Given the description of an element on the screen output the (x, y) to click on. 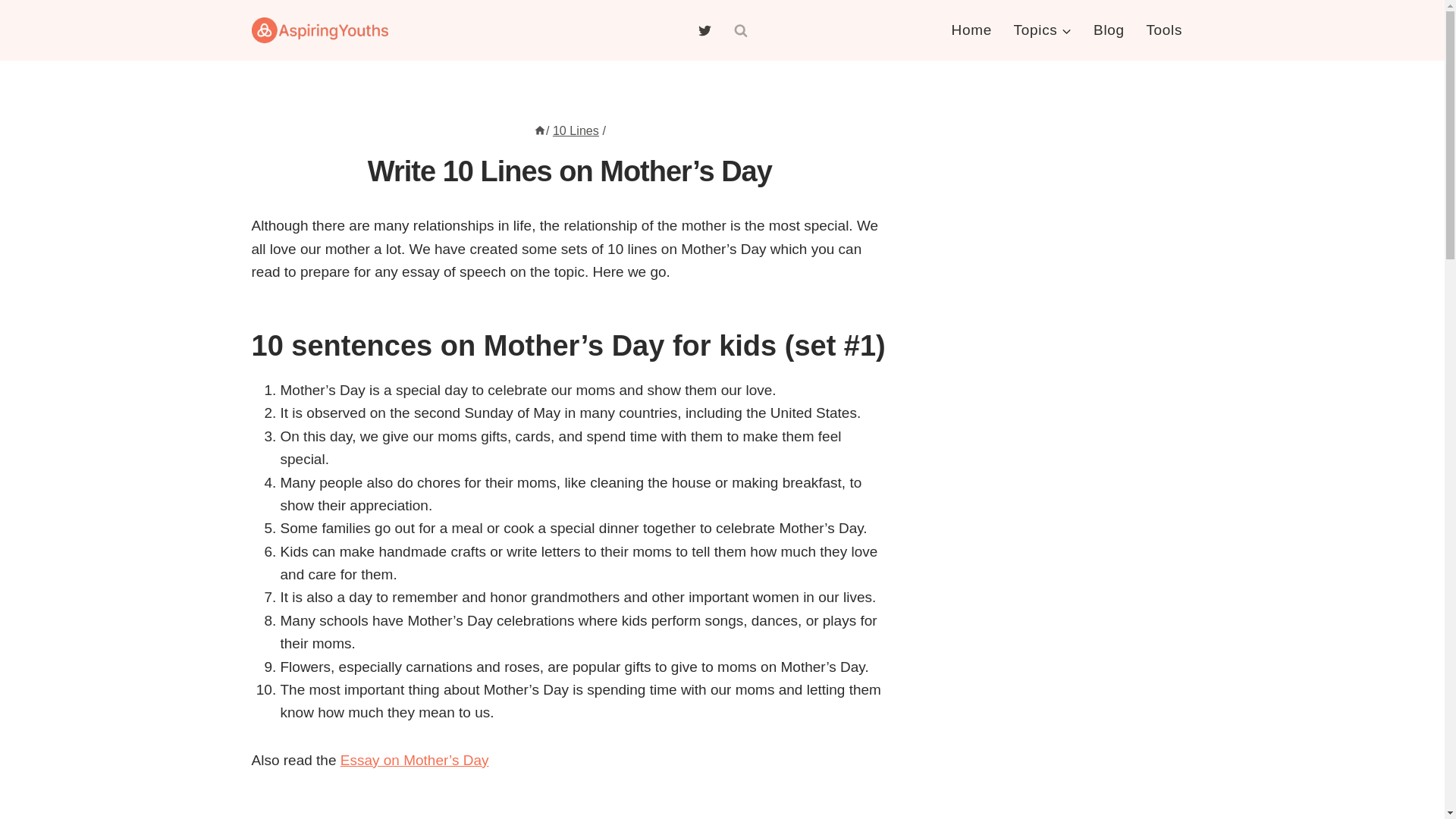
Home (540, 130)
10 Lines (575, 130)
Home (971, 30)
Topics (1043, 30)
Blog (1109, 30)
Tools (1163, 30)
